Given the description of an element on the screen output the (x, y) to click on. 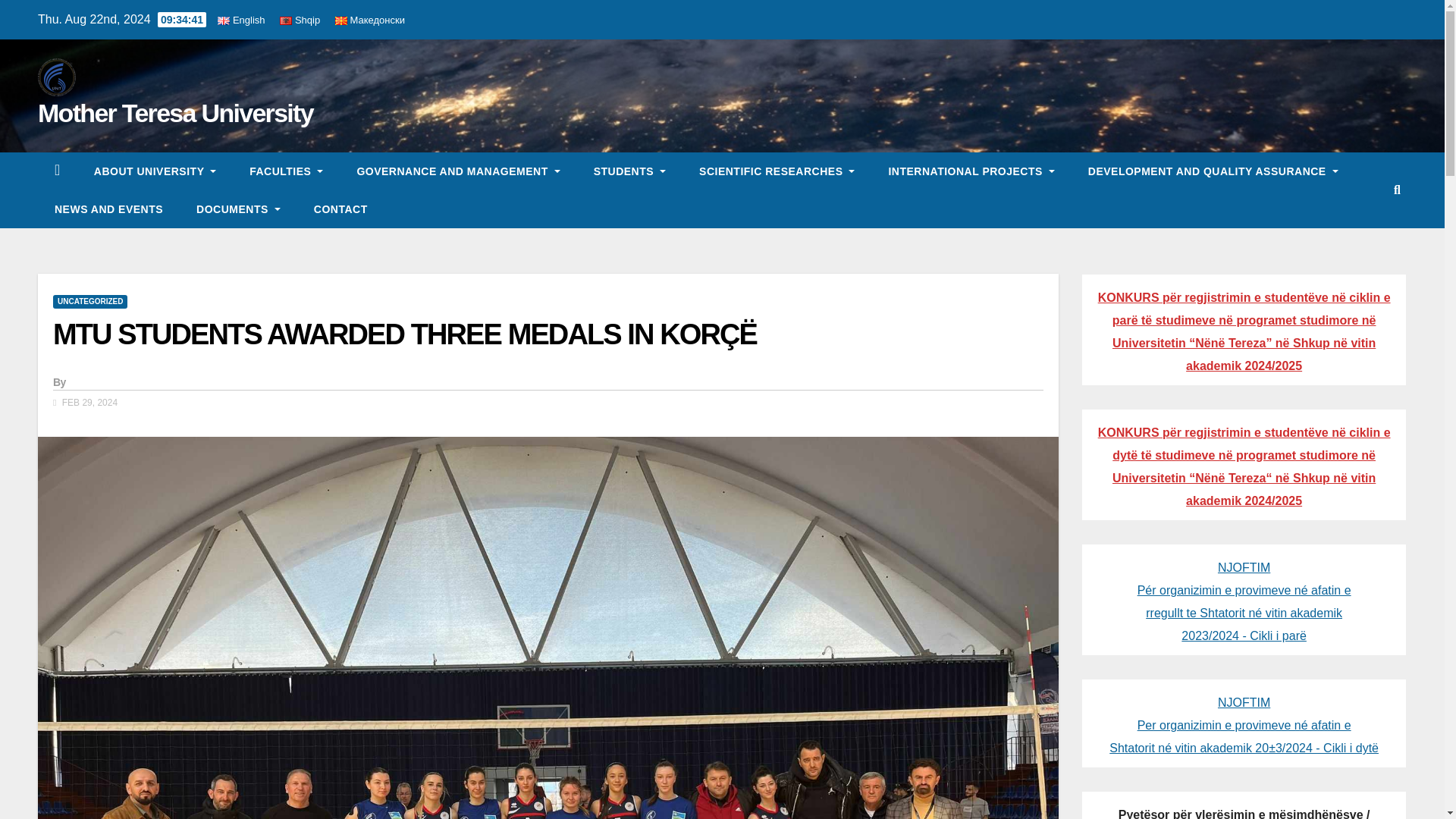
STUDENTS (629, 171)
FACULTIES (285, 171)
Mother Teresa University (175, 112)
ABOUT UNIVERSITY (154, 171)
English (240, 19)
About University (154, 171)
Faculties (285, 171)
GOVERNANCE AND MANAGEMENT (457, 171)
Shqip (299, 19)
